Given the description of an element on the screen output the (x, y) to click on. 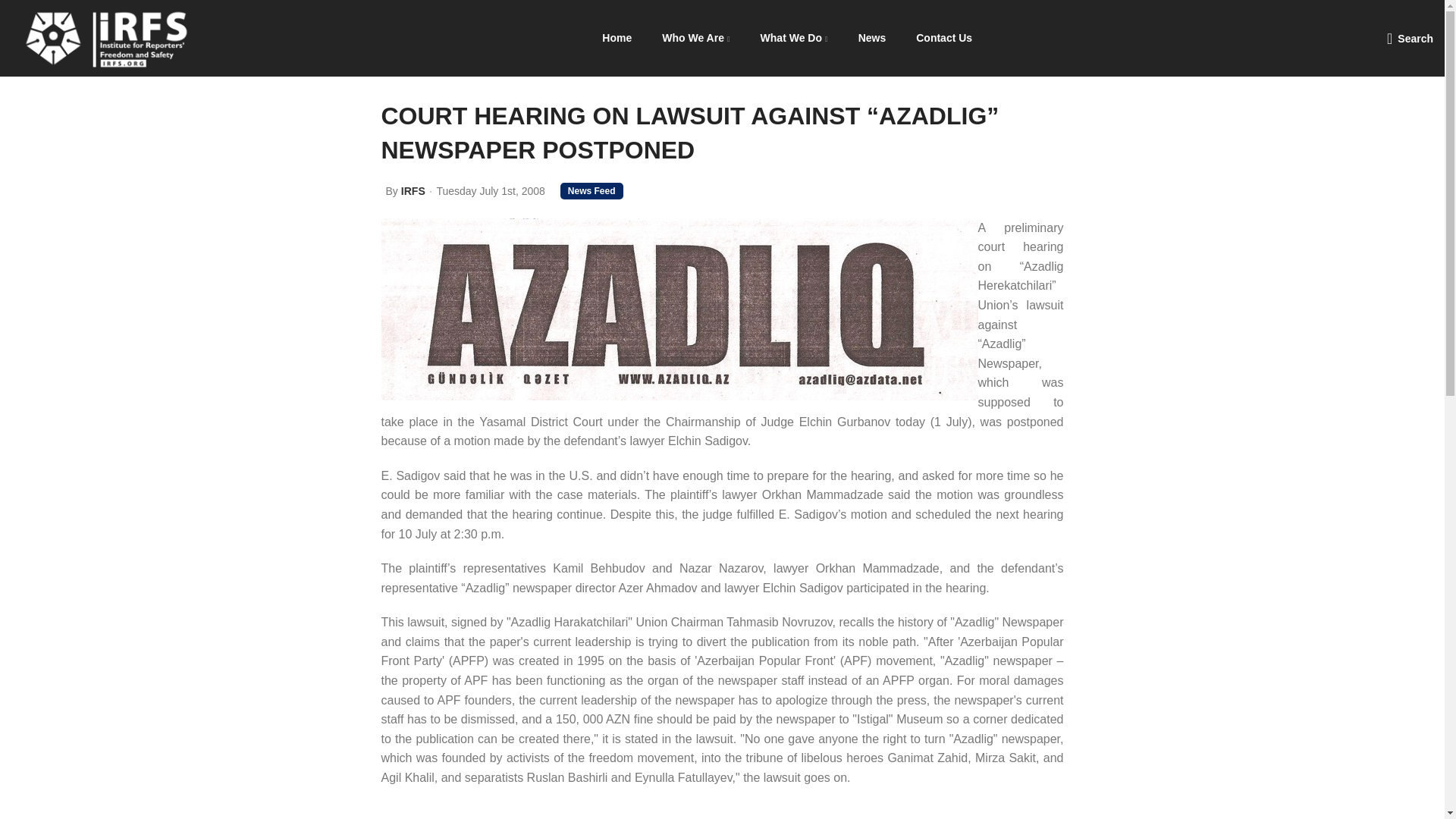
Home (616, 37)
Search (1409, 37)
IRFS (413, 191)
News Feed (591, 190)
What We Do (794, 37)
Contact Us (944, 37)
News (872, 37)
Who We Are (695, 37)
